Given the description of an element on the screen output the (x, y) to click on. 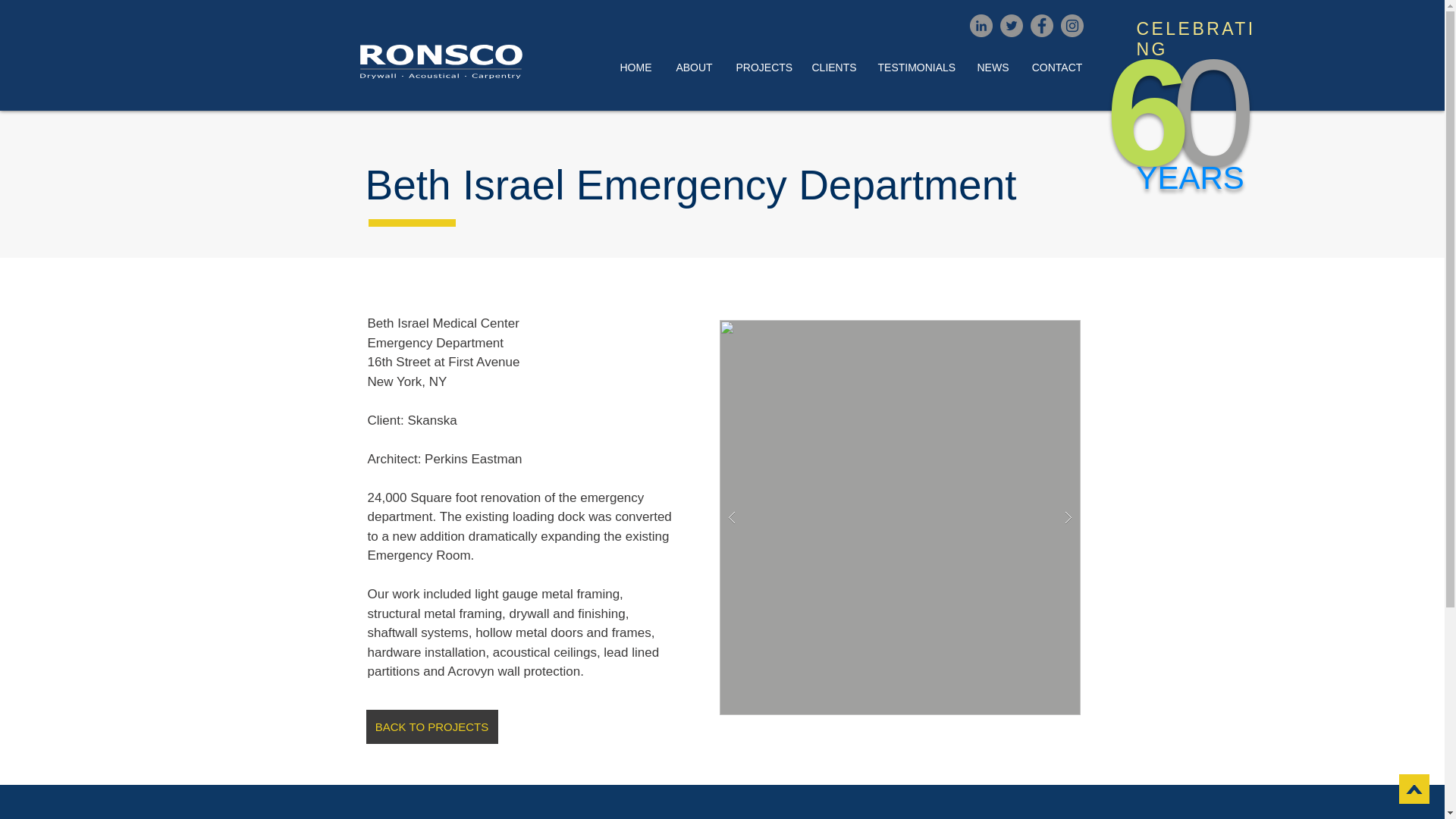
HOME (635, 67)
PROJECTS (762, 67)
CLIENTS (833, 67)
CONTACT (1056, 67)
BACK TO PROJECTS (431, 726)
NEWS (993, 67)
ABOUT (694, 67)
TESTIMONIALS (915, 67)
